Given the description of an element on the screen output the (x, y) to click on. 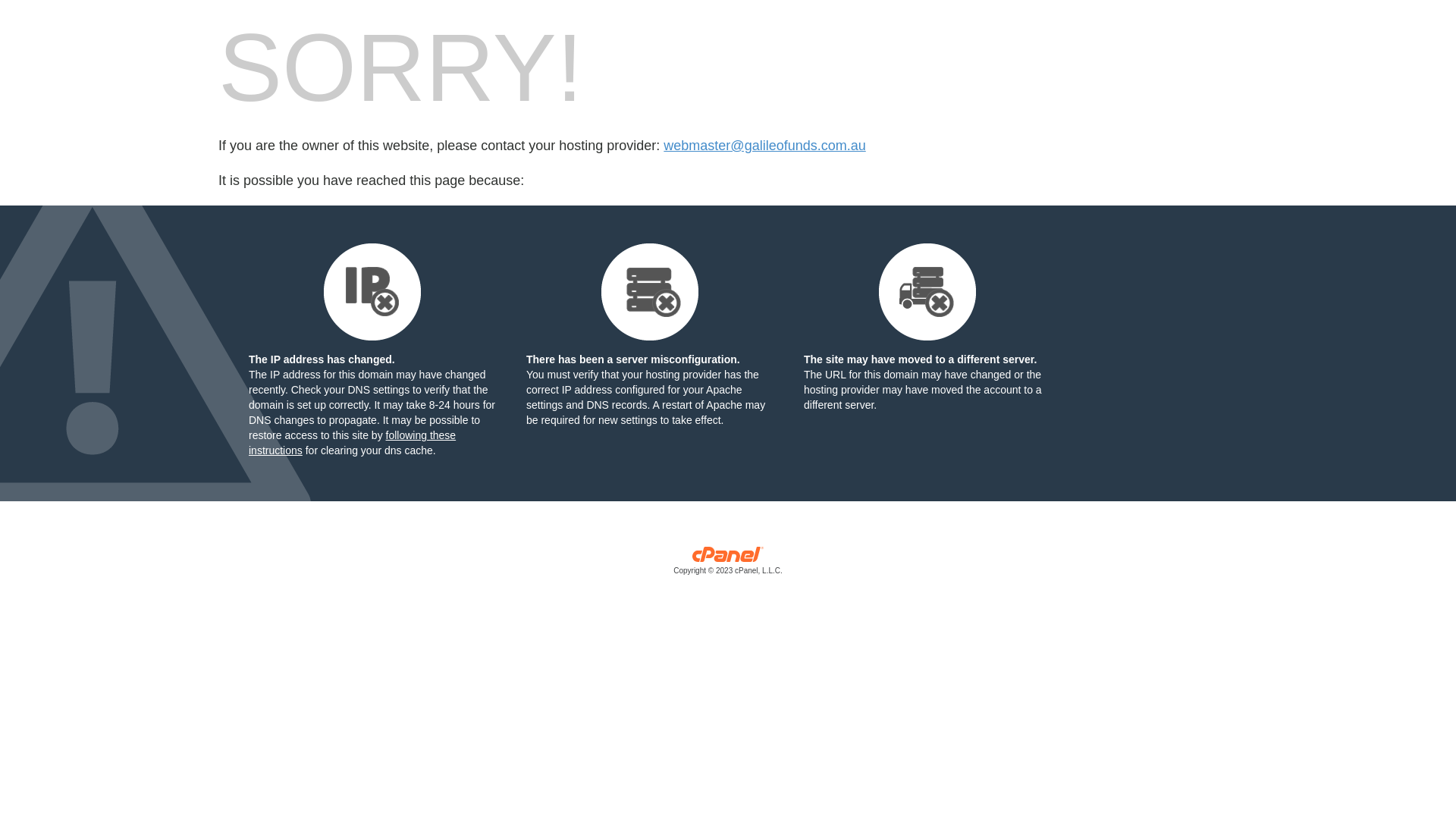
following these instructions Element type: text (351, 442)
webmaster@galileofunds.com.au Element type: text (764, 145)
